Given the description of an element on the screen output the (x, y) to click on. 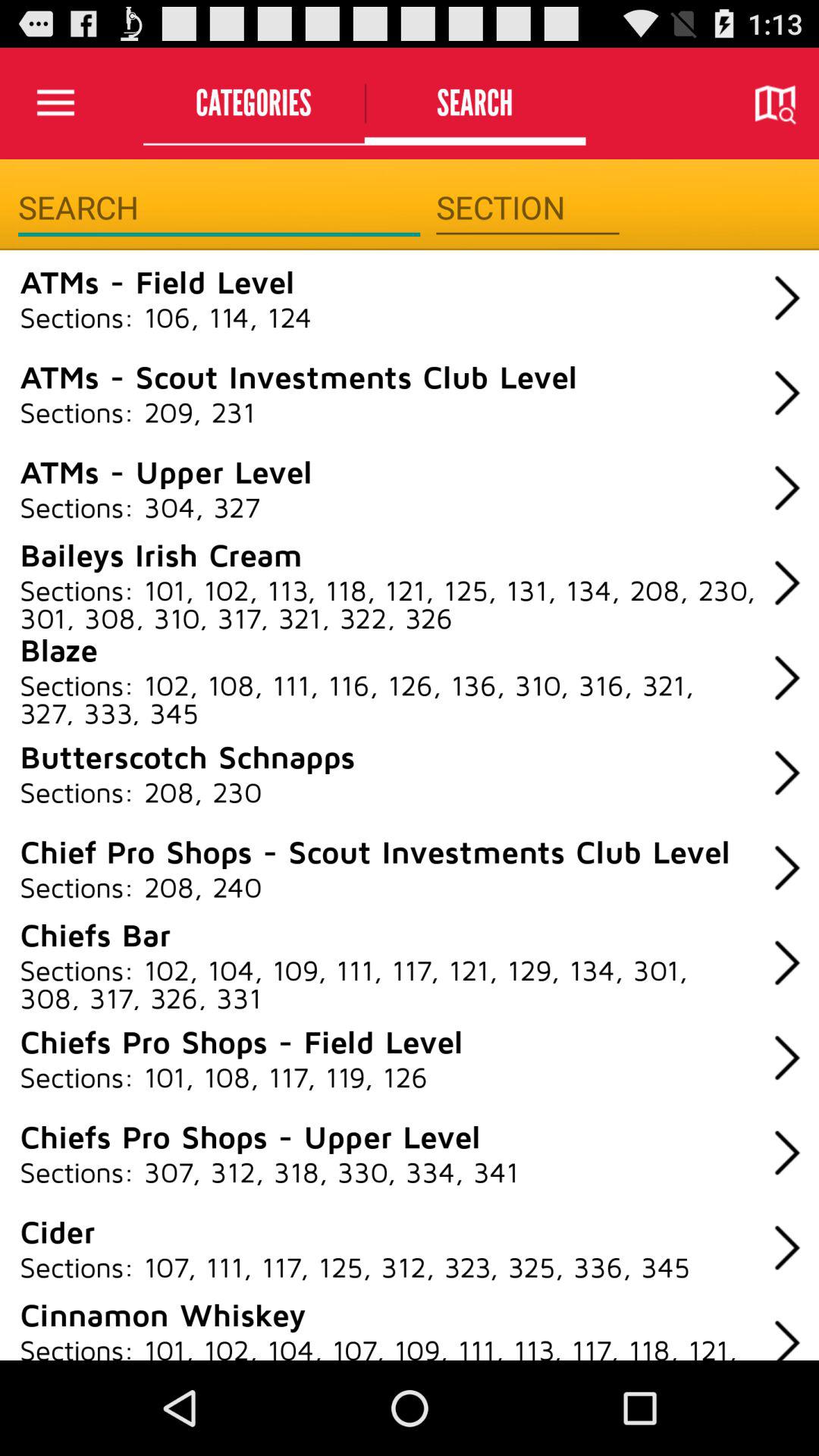
click the cinnamon whiskey icon (162, 1314)
